Given the description of an element on the screen output the (x, y) to click on. 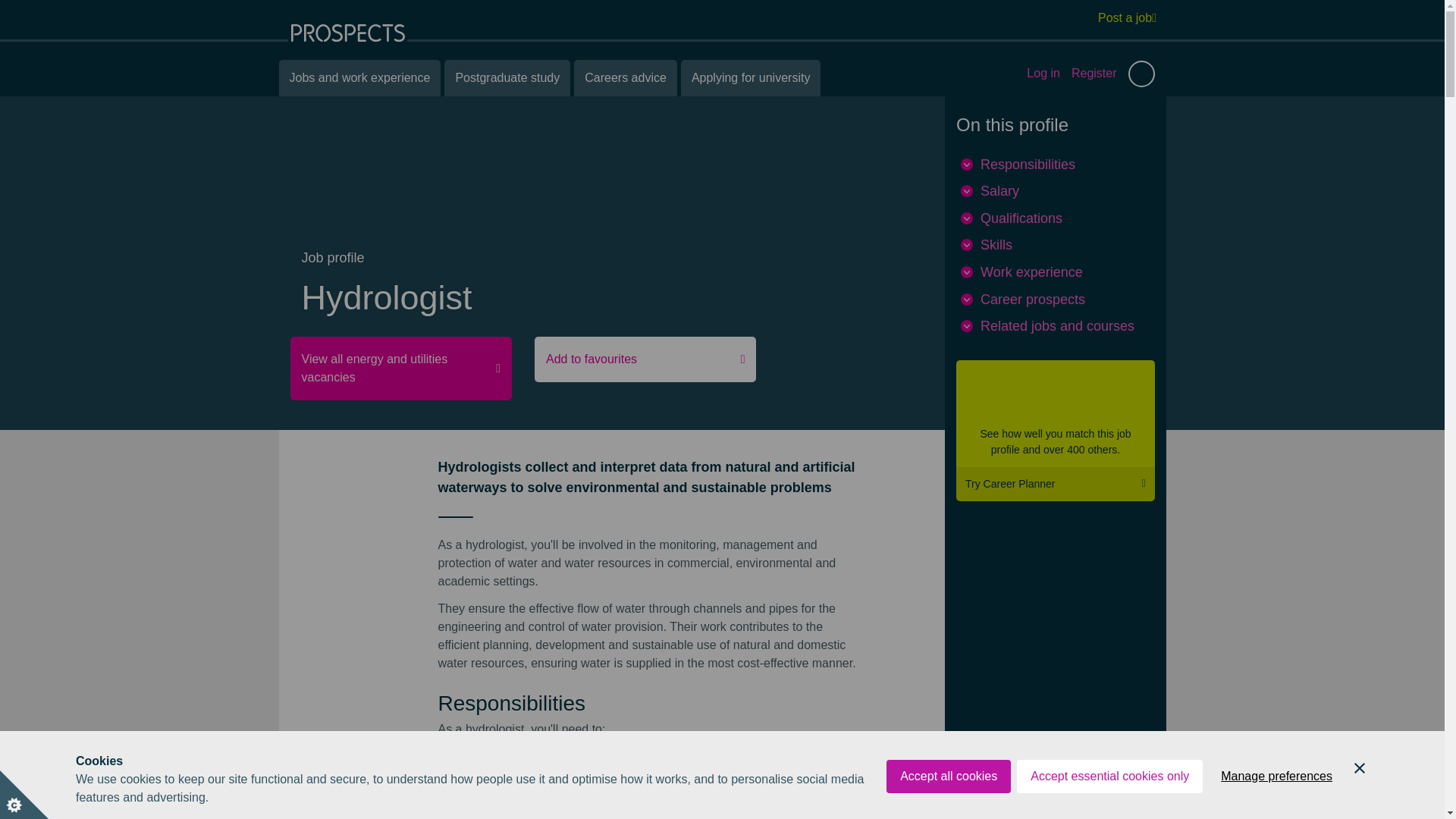
Careers advice (625, 77)
Jobs and work experience (360, 77)
Accept all cookies (948, 811)
Site search (1141, 73)
Manage preferences (1275, 797)
Post a job (1126, 18)
Postgraduate study (507, 77)
Accept essential cookies only (1109, 802)
